Given the description of an element on the screen output the (x, y) to click on. 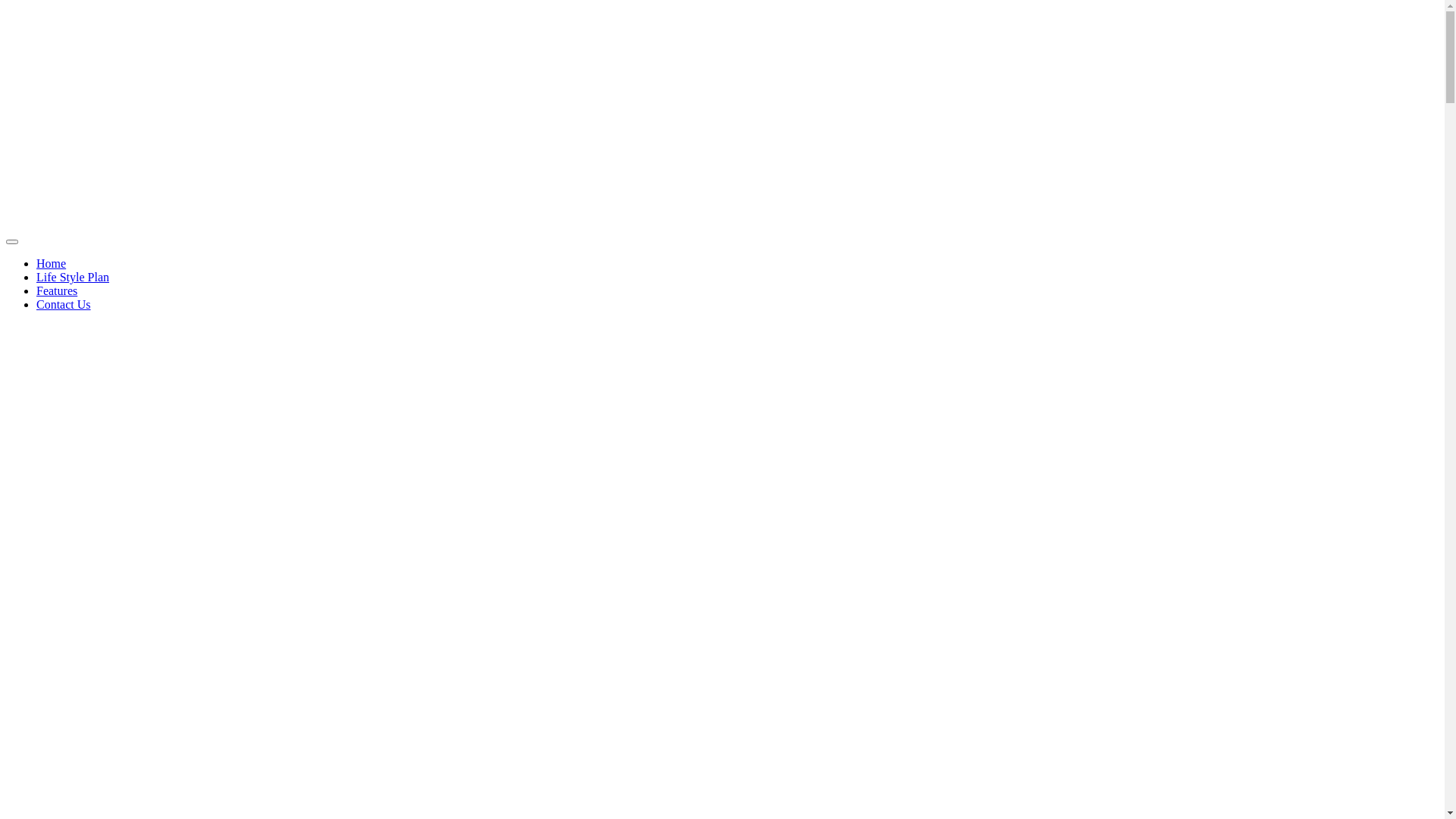
Home Element type: text (50, 263)
Features Element type: text (56, 290)
Life Style Plan Element type: text (72, 276)
Contact Us Element type: text (63, 304)
